Given the description of an element on the screen output the (x, y) to click on. 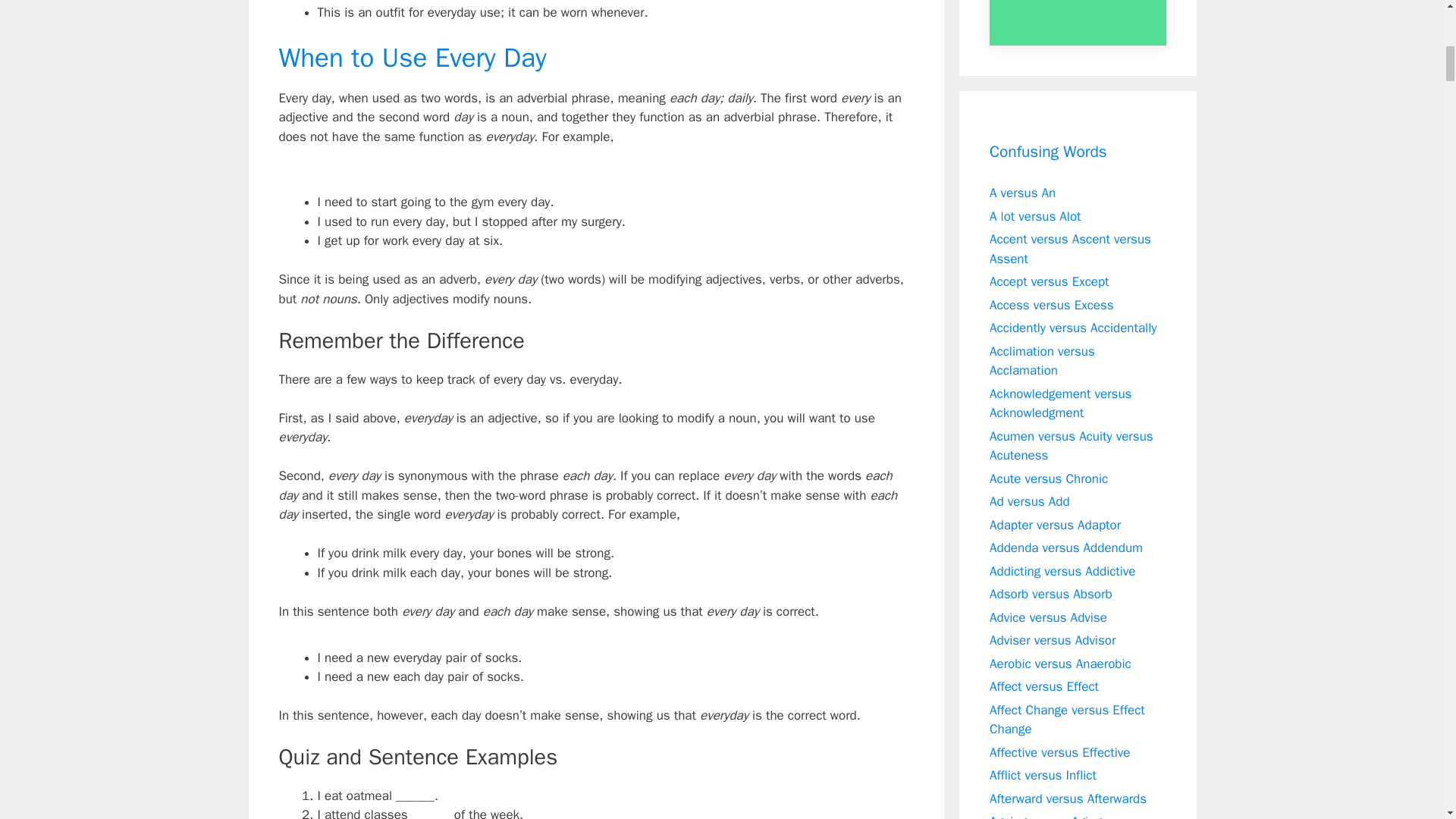
Accent versus Ascent versus Assent (1070, 248)
A lot versus Alot (1035, 215)
Confusing Words (1048, 152)
A versus An (1022, 192)
